Given the description of an element on the screen output the (x, y) to click on. 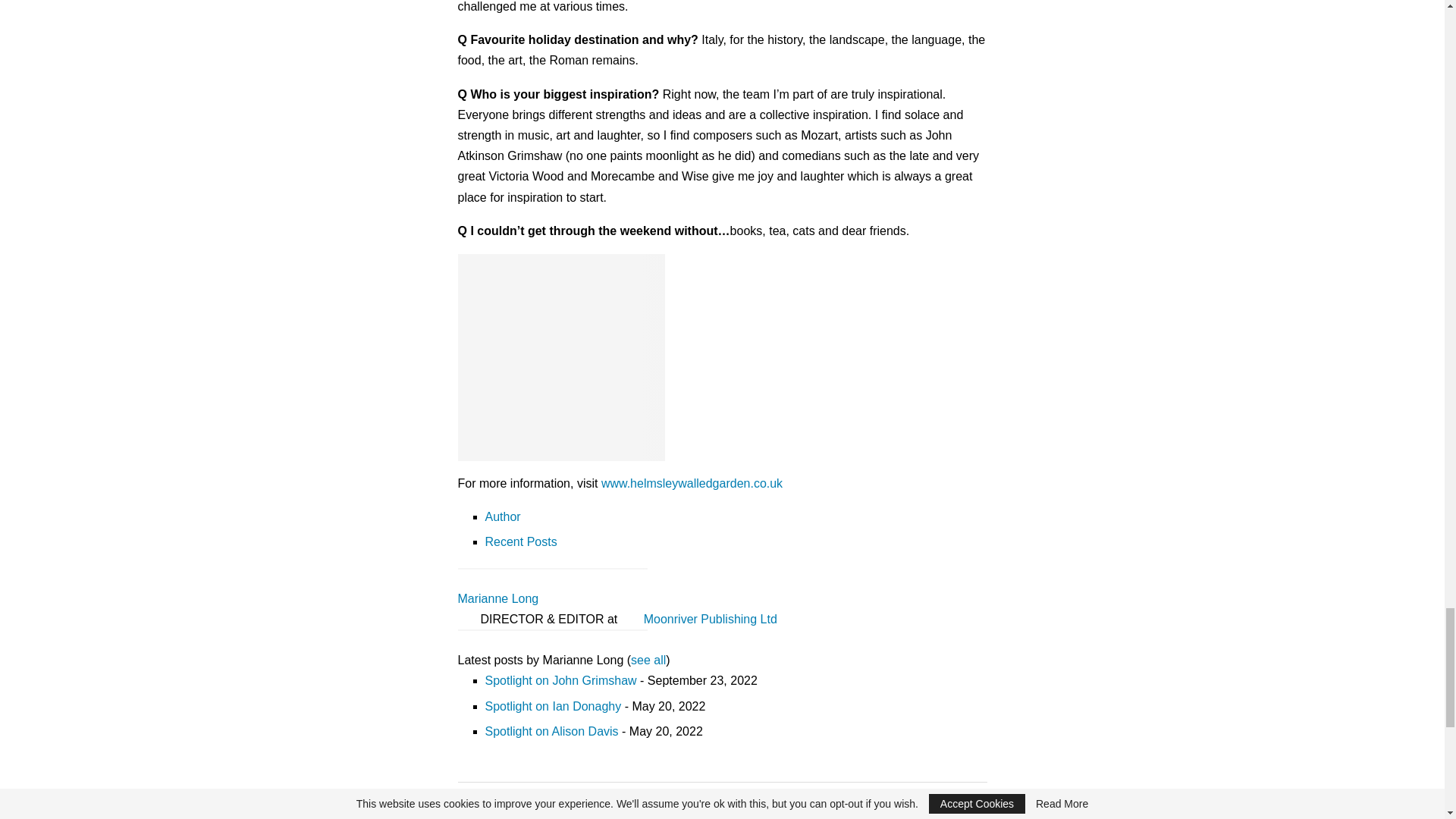
Marianne Long (552, 577)
Marianne Long (552, 639)
Like (745, 799)
